Given the description of an element on the screen output the (x, y) to click on. 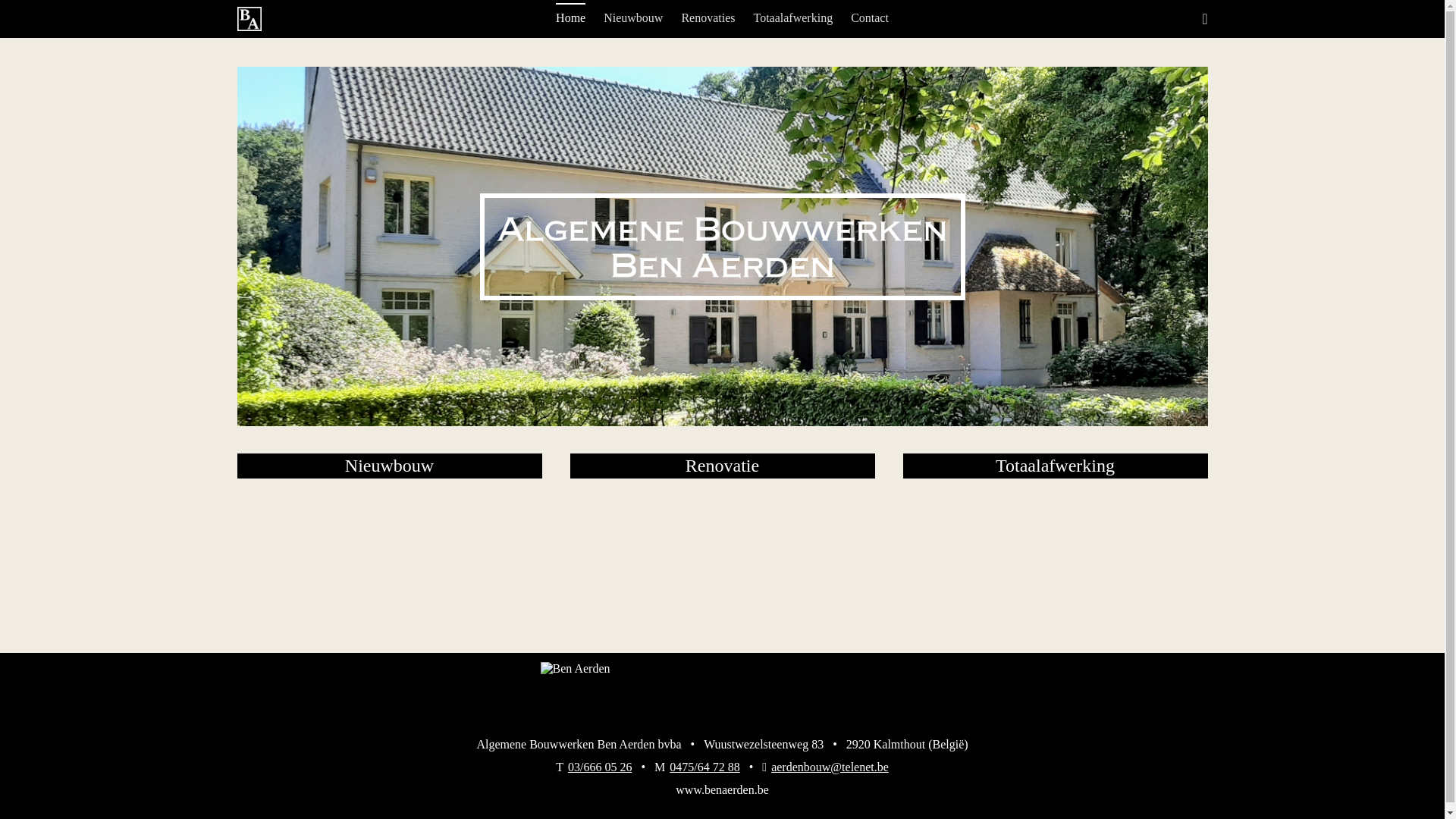
Home Element type: text (570, 18)
Nieuwbouw Element type: text (632, 18)
Totaalafwerking Element type: text (793, 18)
Renovaties Element type: text (707, 18)
Choose Screen Size, language, ... Element type: hover (1204, 18)
Contact Element type: text (869, 18)
